Given the description of an element on the screen output the (x, y) to click on. 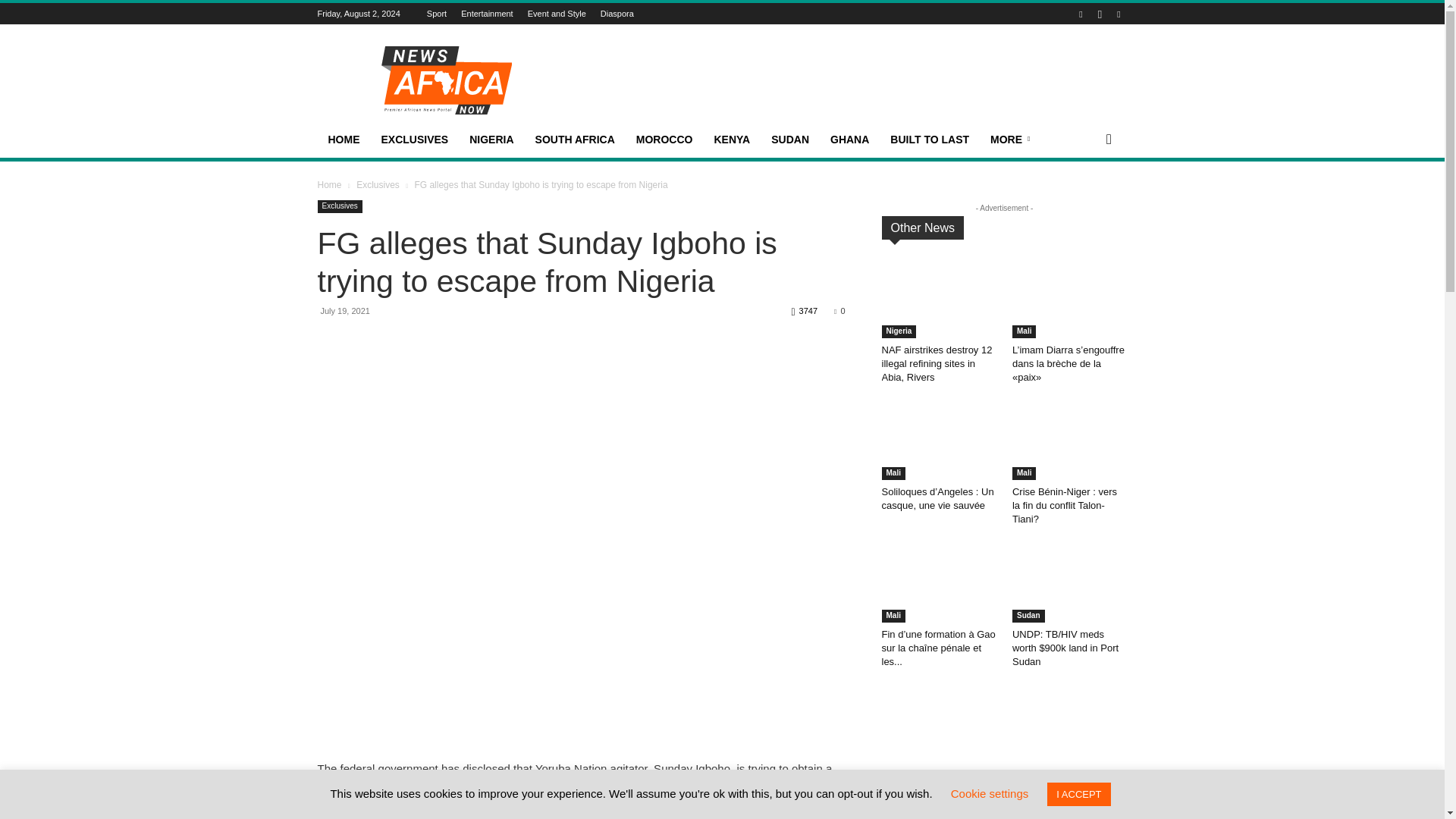
Entertainment (486, 13)
MOROCCO (664, 139)
Sport (436, 13)
SOUTH AFRICA (575, 139)
HOME (343, 139)
EXCLUSIVES (413, 139)
Event and Style (556, 13)
NIGERIA (491, 139)
Diaspora (616, 13)
View all posts in Exclusives (377, 184)
